Given the description of an element on the screen output the (x, y) to click on. 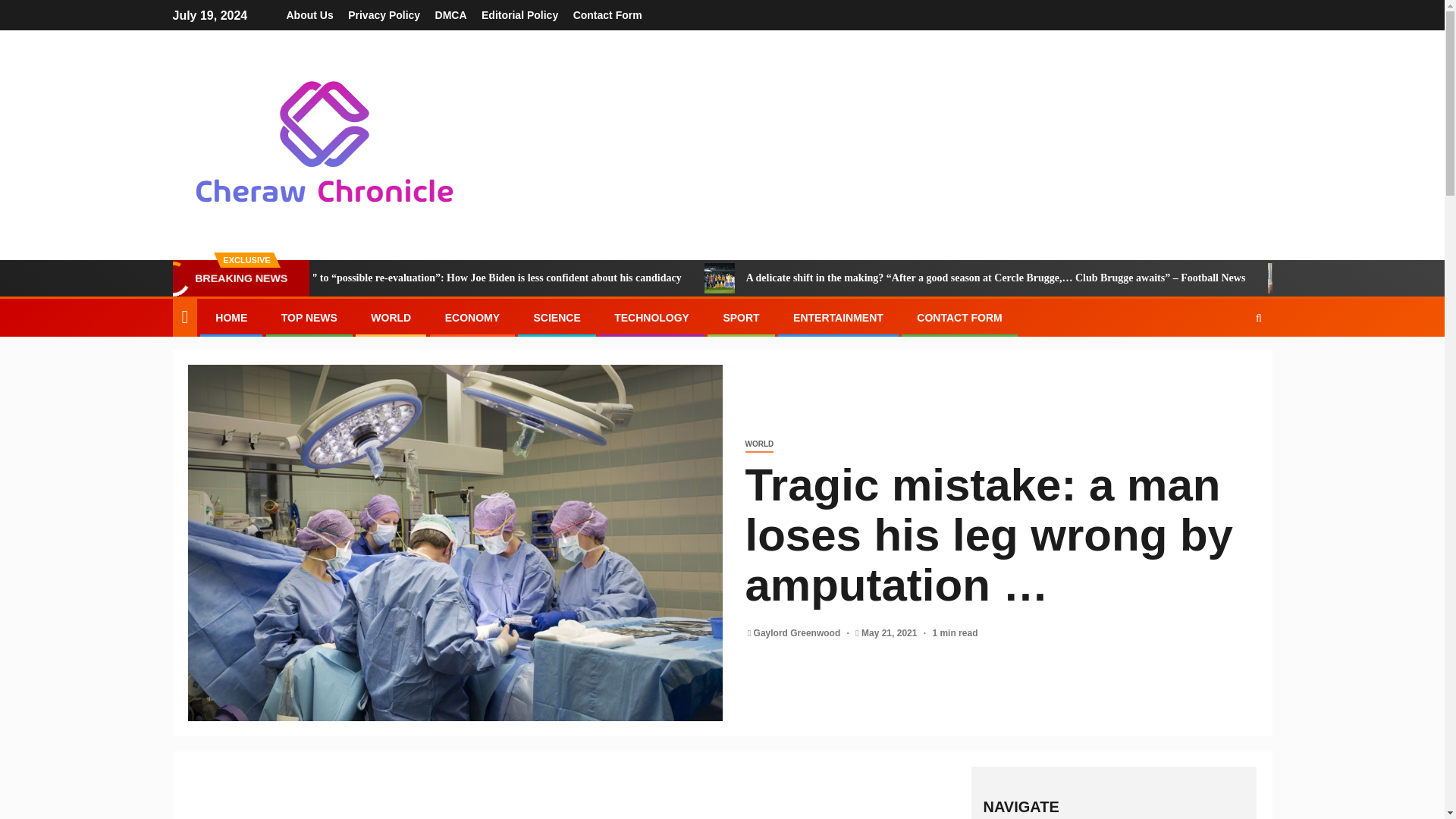
About Us (309, 15)
Privacy Policy (383, 15)
HOME (231, 317)
SCIENCE (555, 317)
Editorial Policy (519, 15)
TOP NEWS (309, 317)
WORLD (758, 444)
Advertisement (574, 802)
DMCA (451, 15)
TECHNOLOGY (651, 317)
Search (1229, 363)
WORLD (390, 317)
Contact Form (607, 15)
CONTACT FORM (960, 317)
SPORT (740, 317)
